Given the description of an element on the screen output the (x, y) to click on. 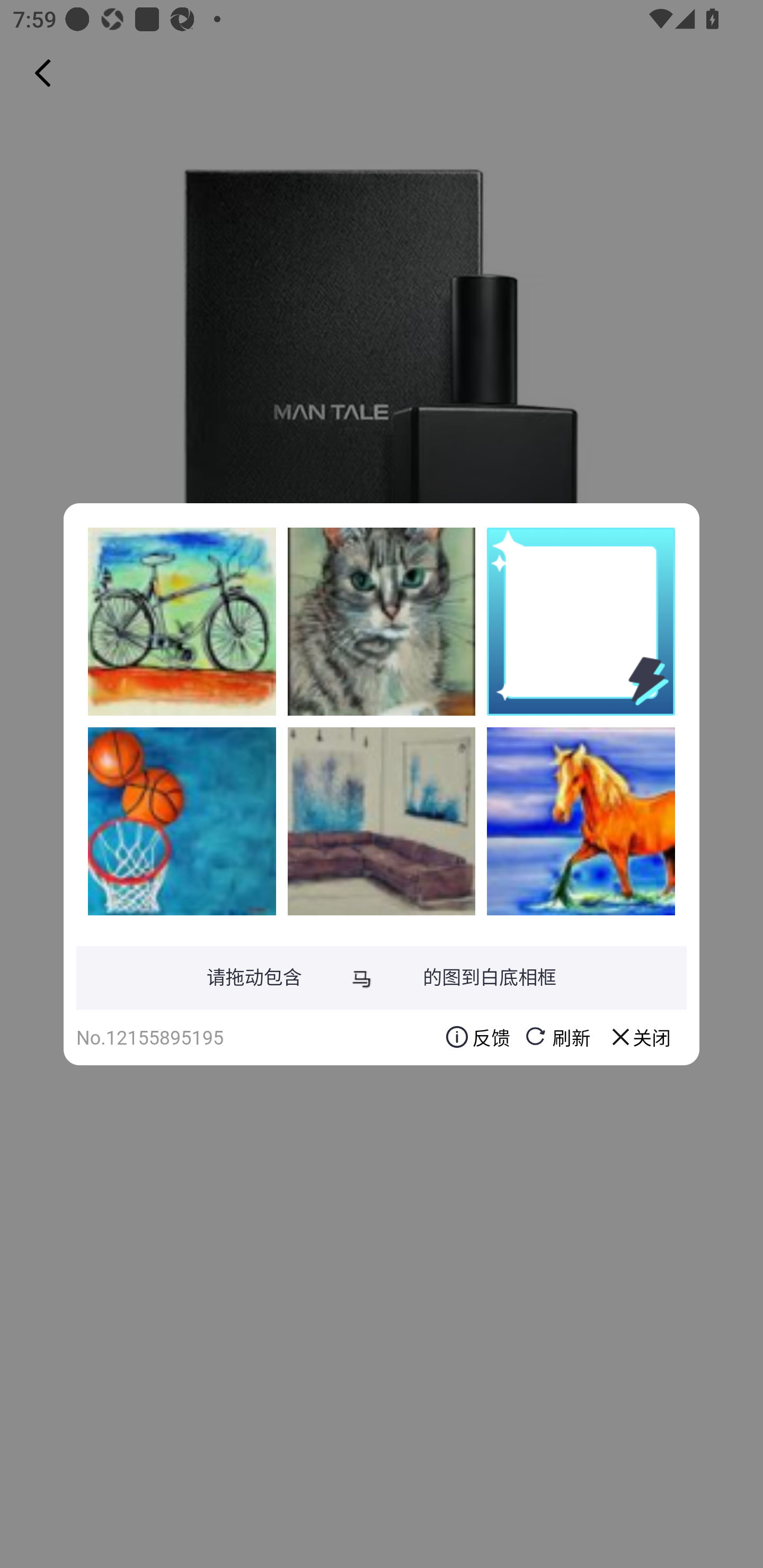
IXT+MWrv0B6Vjriy3E8ef4ES8k4pBNjqKcG1tbX4J (381, 621)
JCPZUXmoVVaHDWvb25hcYCs5PoWOgR (381, 820)
KIM8k5XL (580, 820)
